Given the description of an element on the screen output the (x, y) to click on. 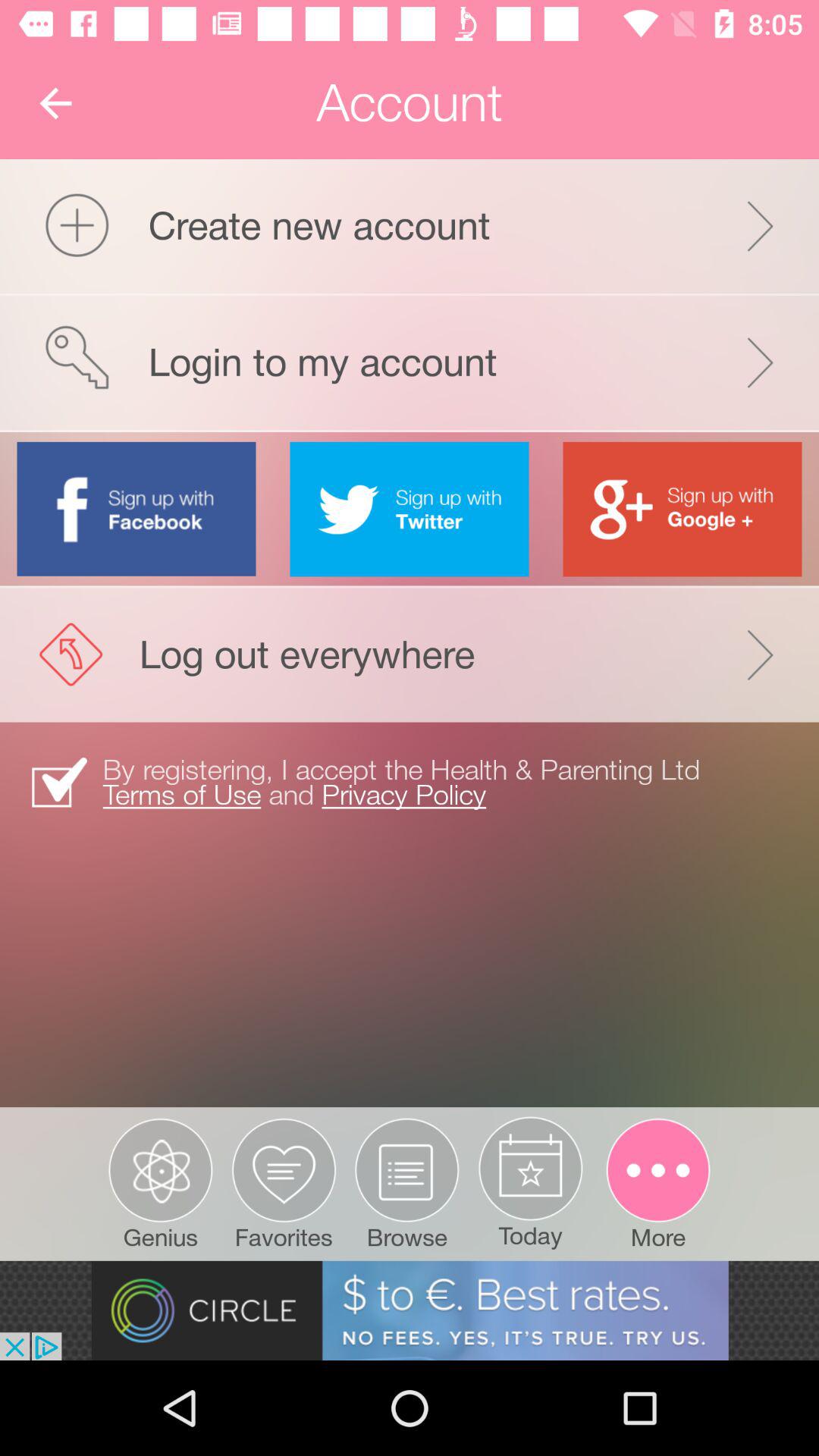
link to google account button (682, 508)
